Given the description of an element on the screen output the (x, y) to click on. 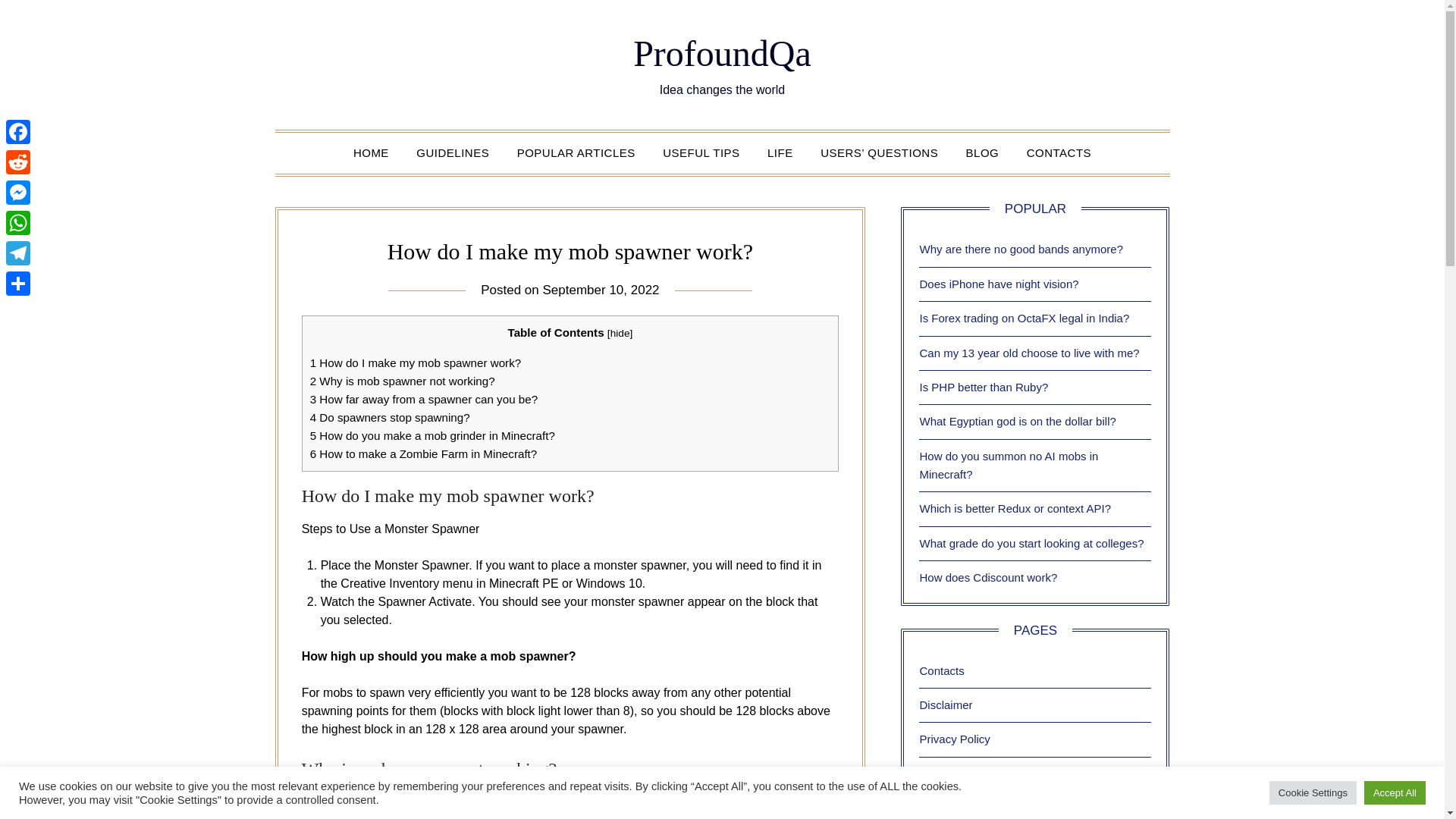
3 How far away from a spawner can you be? (424, 399)
4 Do spawners stop spawning? (390, 417)
2 Why is mob spawner not working? (402, 380)
Which is better Redux or context API? (1014, 508)
ProfoundQa (721, 53)
What grade do you start looking at colleges? (1030, 543)
1 How do I make my mob spawner work? (415, 362)
Is PHP better than Ruby? (983, 386)
September 10, 2022 (601, 289)
Why are there no good bands anymore? (1020, 248)
Reddit (17, 162)
6 How to make a Zombie Farm in Minecraft? (423, 453)
Facebook (17, 132)
GUIDELINES (452, 152)
BLOG (982, 152)
